Given the description of an element on the screen output the (x, y) to click on. 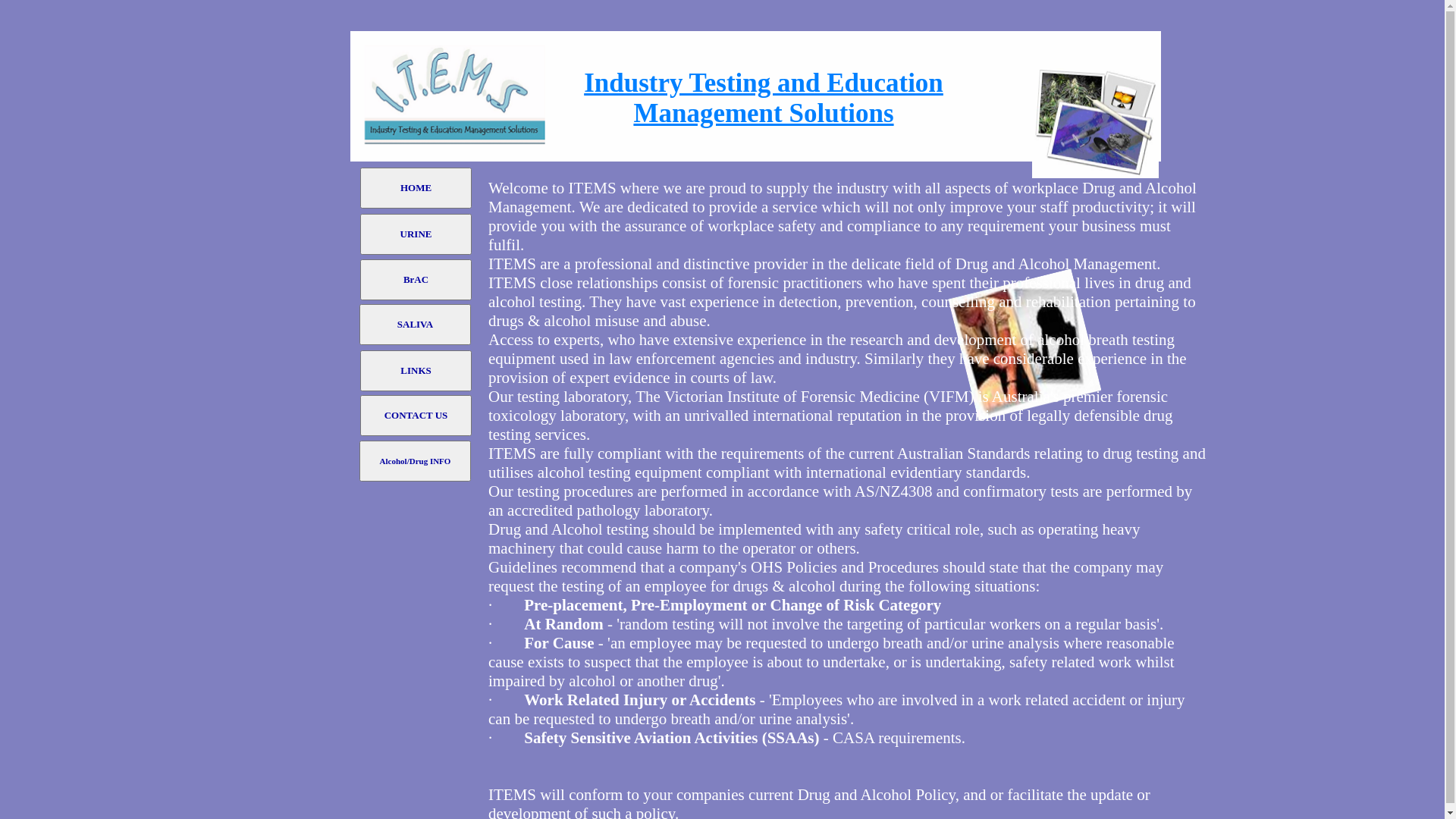
CONTACT US Element type: text (415, 415)
SALIVA Element type: text (414, 324)
URINE Element type: text (415, 233)
LINKS Element type: text (415, 370)
Alcohol/Drug INFO Element type: text (414, 460)
HOME Element type: text (415, 187)
BrAC Element type: text (415, 279)
